Given the description of an element on the screen output the (x, y) to click on. 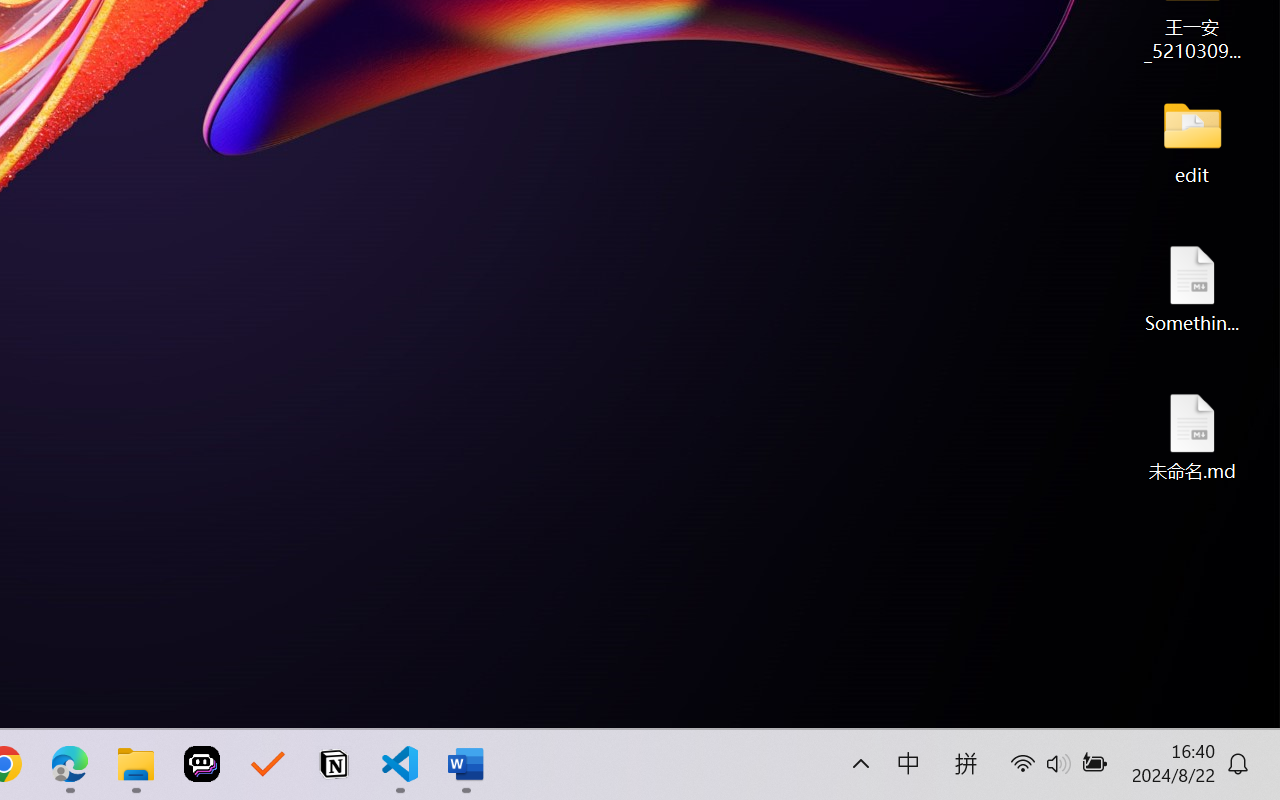
Poe (201, 764)
Something.md (1192, 288)
Notion (333, 764)
edit (1192, 140)
